Given the description of an element on the screen output the (x, y) to click on. 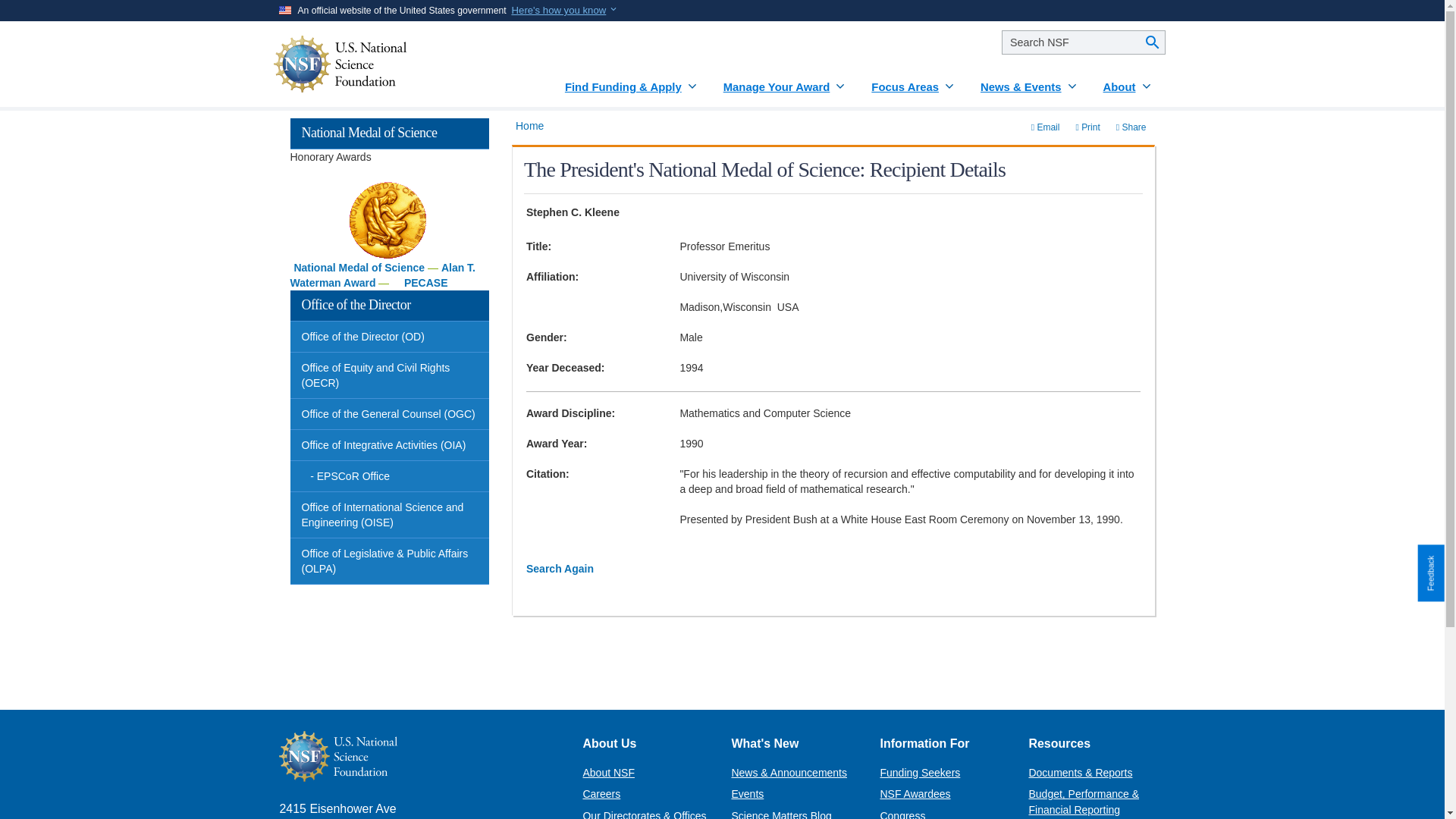
PECASE (426, 282)
Careers (601, 793)
About (1128, 81)
   - EPSCoR Office (389, 476)
Focus Areas (913, 81)
NSF - National Science Foundation - Home (418, 756)
Print (1087, 127)
Home (529, 125)
NSF - National Science Foundation - Home (386, 64)
Share (1131, 127)
